Given the description of an element on the screen output the (x, y) to click on. 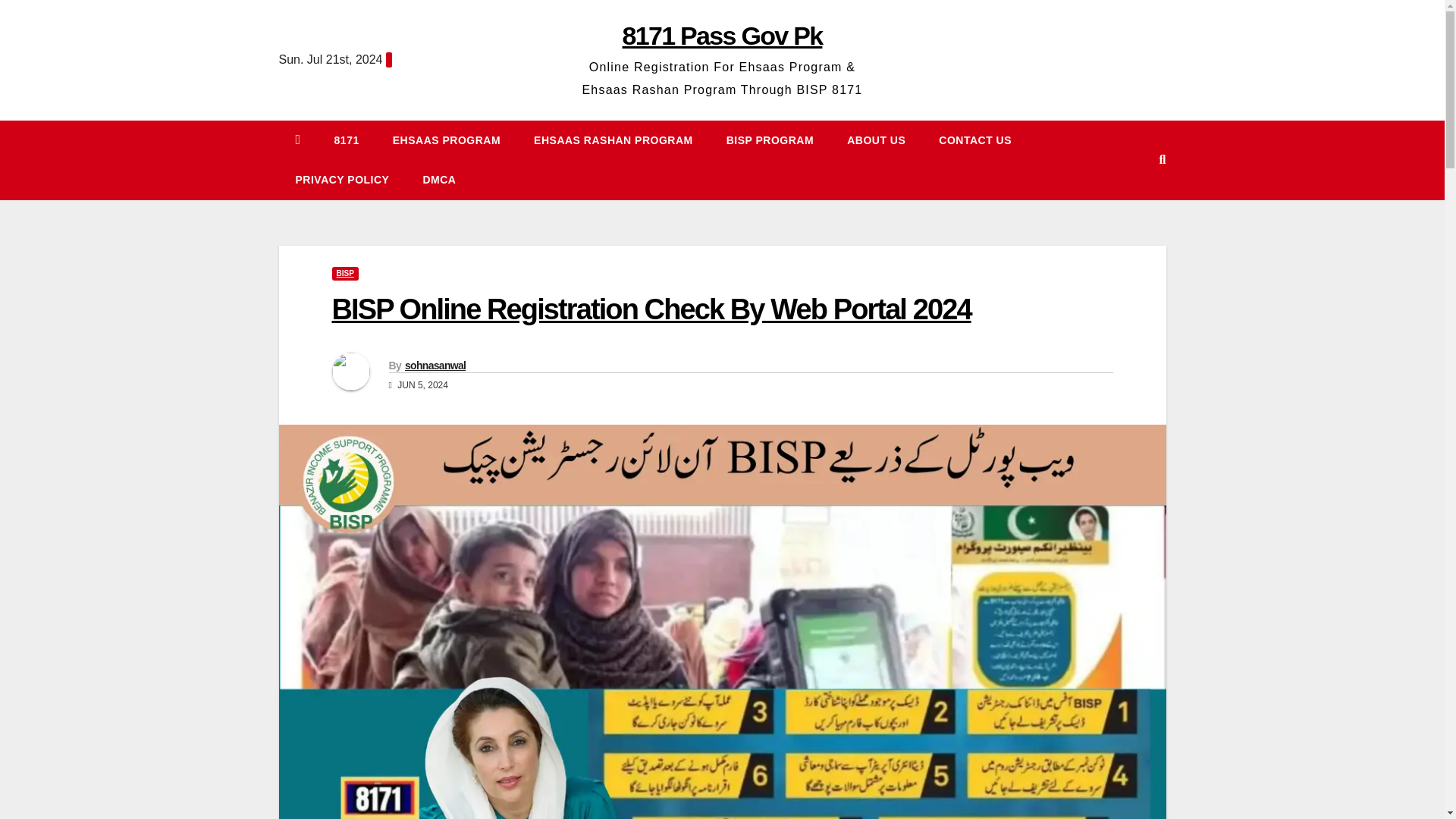
PRIVACY POLICY (342, 179)
EHSAAS PROGRAM (445, 139)
sohnasanwal (434, 365)
Ehsaas Program (445, 139)
BISP PROGRAM (769, 139)
BISP (344, 273)
ABOUT US (875, 139)
8171 (346, 139)
About Us (875, 139)
8171 Pass Gov Pk (722, 35)
Privacy Policy (342, 179)
BISP Online Registration Check By Web Portal 2024 (651, 309)
Ehsaas Rashan Program (613, 139)
DMCA (438, 179)
8171 (346, 139)
